Given the description of an element on the screen output the (x, y) to click on. 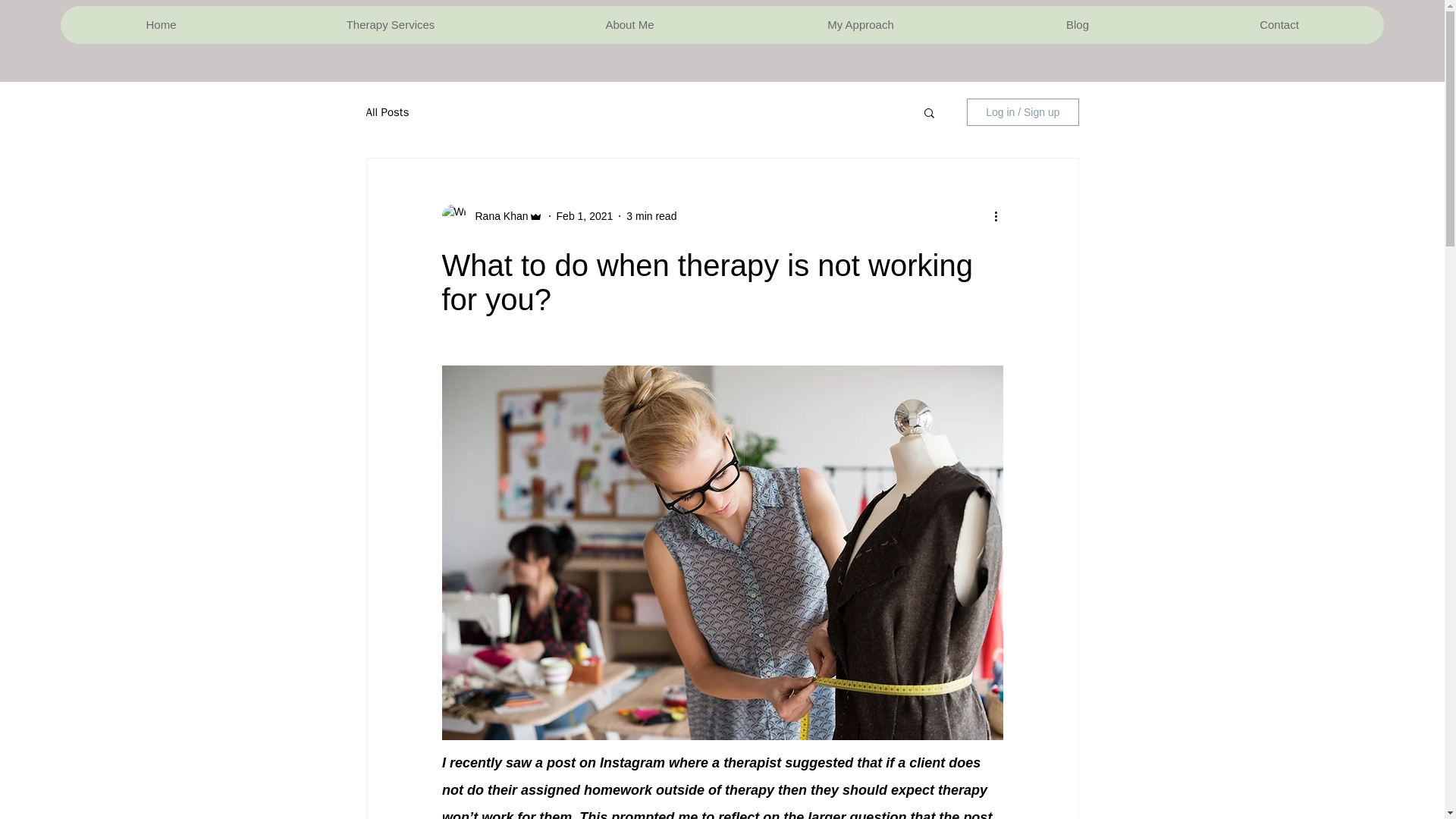
All Posts (387, 111)
Contact (1278, 24)
Therapy Services (390, 24)
My Approach (859, 24)
About Me (628, 24)
Blog (1076, 24)
Rana Khan (496, 215)
Home (161, 24)
Feb 1, 2021 (584, 215)
3 min read (651, 215)
